Given the description of an element on the screen output the (x, y) to click on. 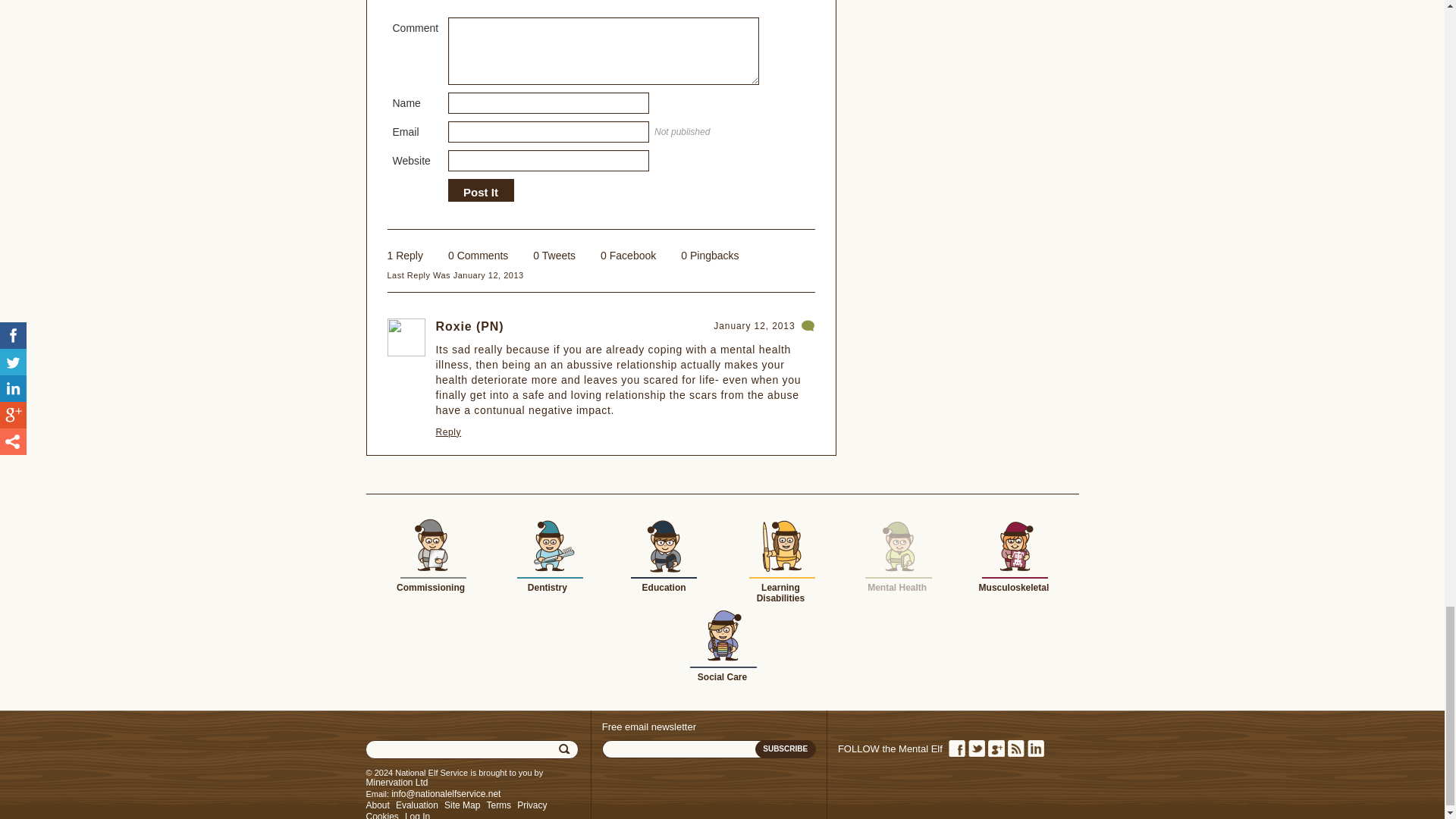
Subscribe (785, 749)
Search (565, 749)
Post It (479, 192)
